Given the description of an element on the screen output the (x, y) to click on. 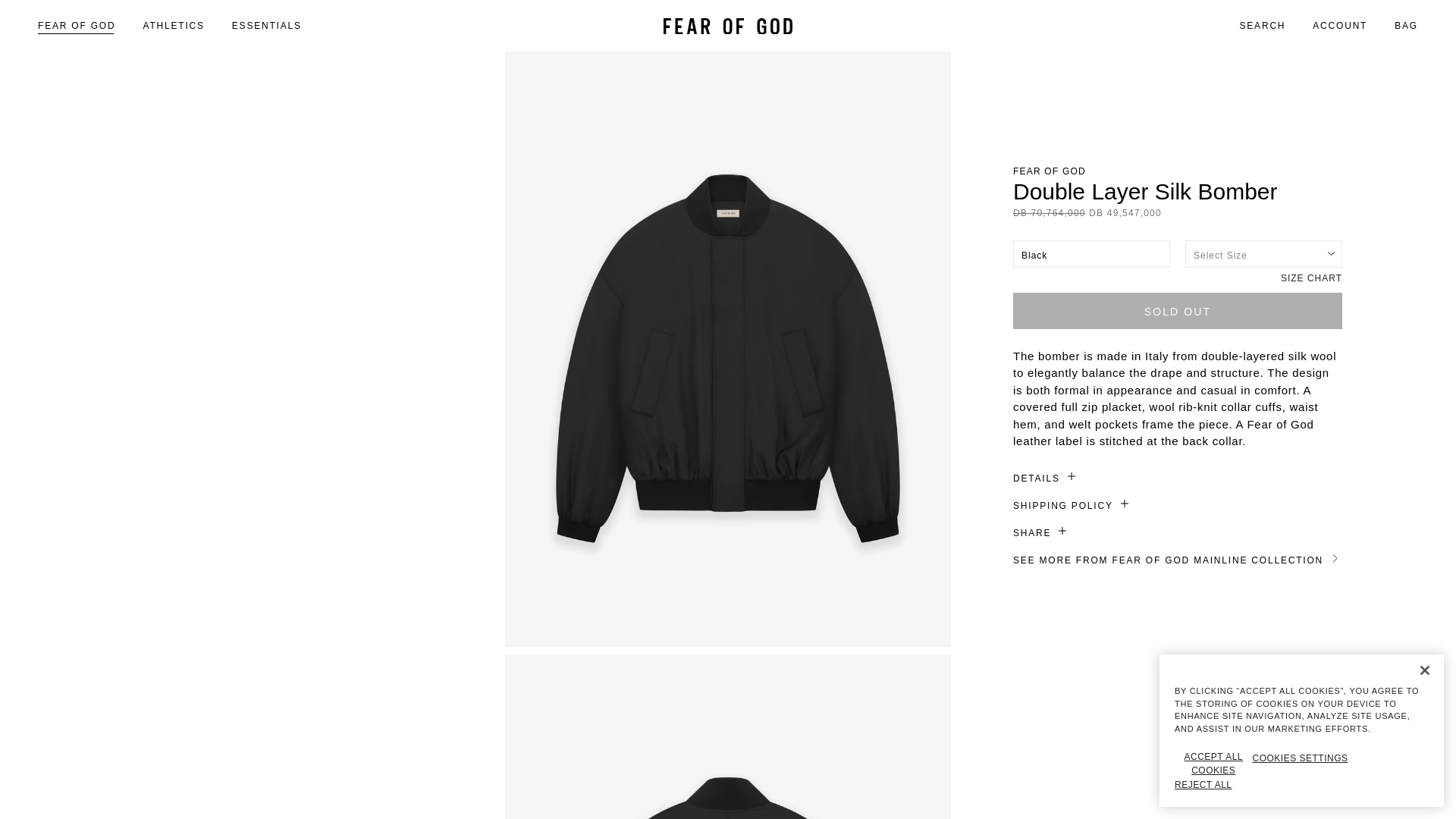
Double Layer Silk Bomber - Fear of God (727, 736)
FEAR OF GOD (76, 25)
ATHLETICS (172, 25)
